Given the description of an element on the screen output the (x, y) to click on. 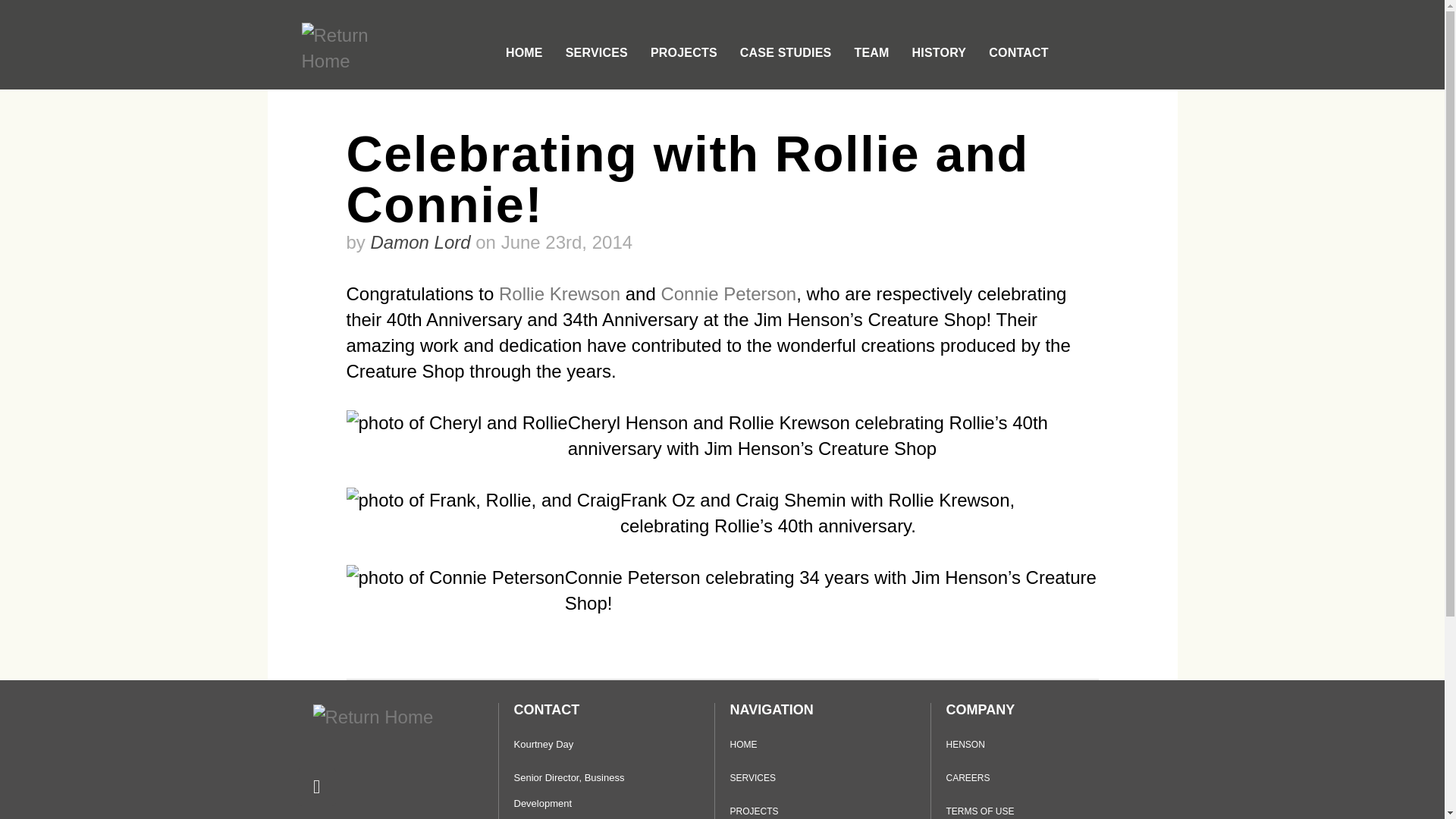
CASE STUDIES (786, 52)
HOME (523, 52)
SERVICES (595, 52)
HENSON (1045, 744)
TERMS OF USE (1045, 808)
Connie Peterson (728, 293)
SERVICES (807, 777)
TEAM (870, 52)
PROJECTS (684, 52)
Home (372, 717)
CAREERS (1045, 777)
HOME (807, 744)
Home (354, 48)
Rollie Krewson (559, 293)
HISTORY (939, 52)
